Given the description of an element on the screen output the (x, y) to click on. 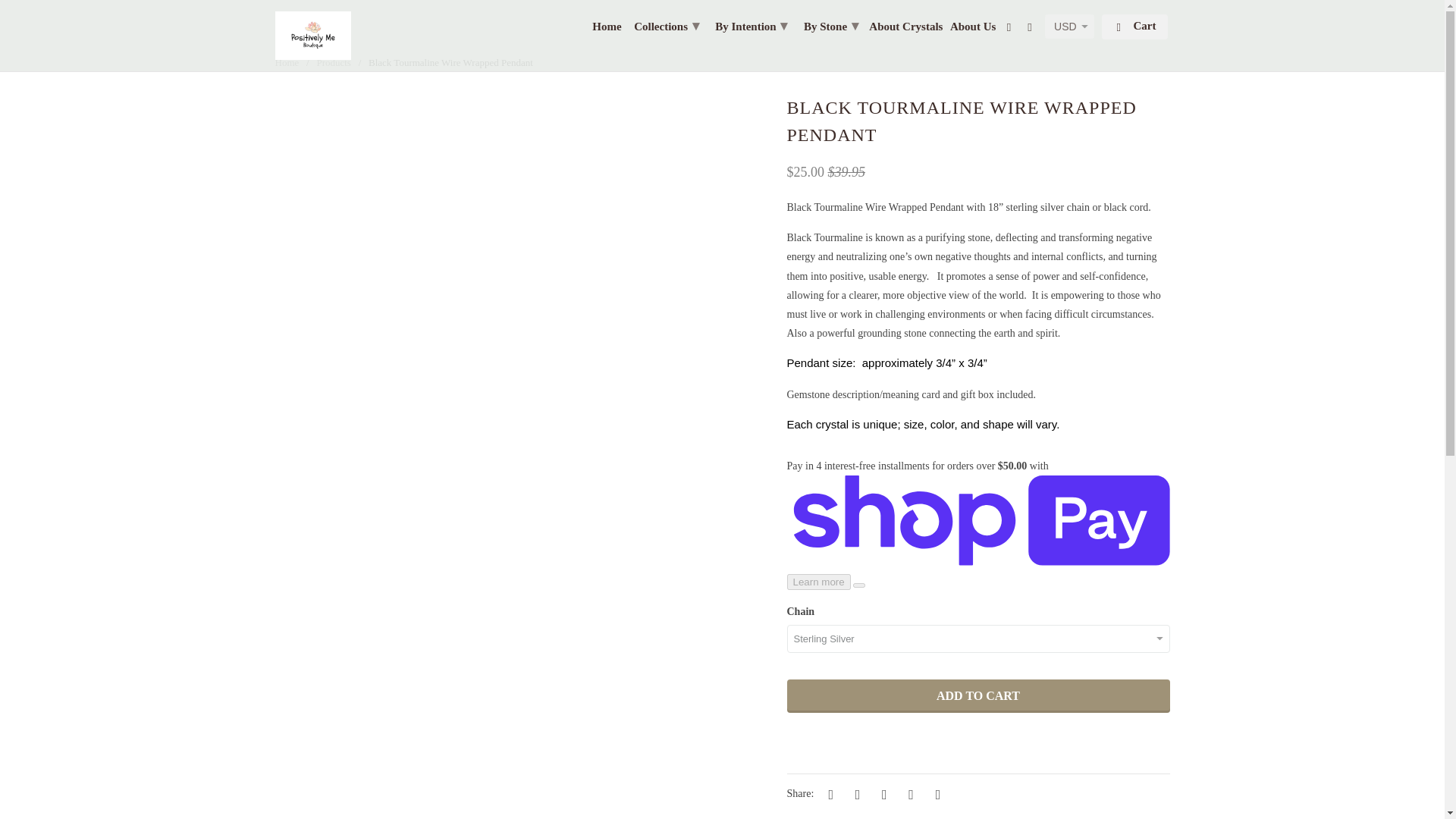
Email this to a friend (935, 793)
Share this on Twitter (828, 793)
Share this on Facebook (855, 793)
Positively Me Boutique (286, 61)
Products (332, 61)
Share this on Pinterest (881, 793)
Positively Me Boutique (312, 35)
